Given the description of an element on the screen output the (x, y) to click on. 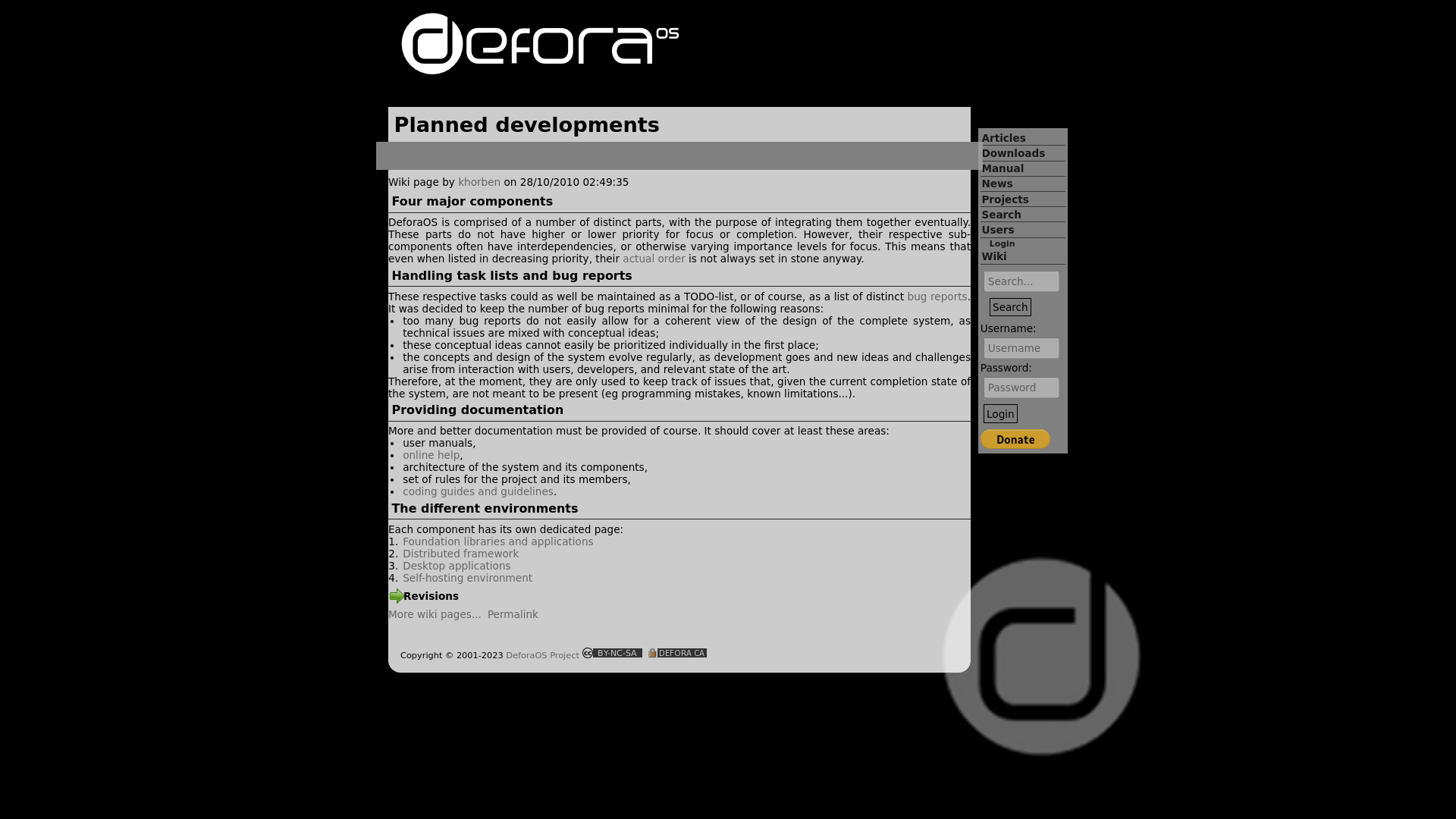
Distributed framework (460, 553)
coding guides and guidelines (478, 491)
Self-hosting environment (467, 577)
Desktop applications (457, 565)
online help (431, 454)
Foundation libraries and applications (497, 541)
khorben (479, 182)
